Given the description of an element on the screen output the (x, y) to click on. 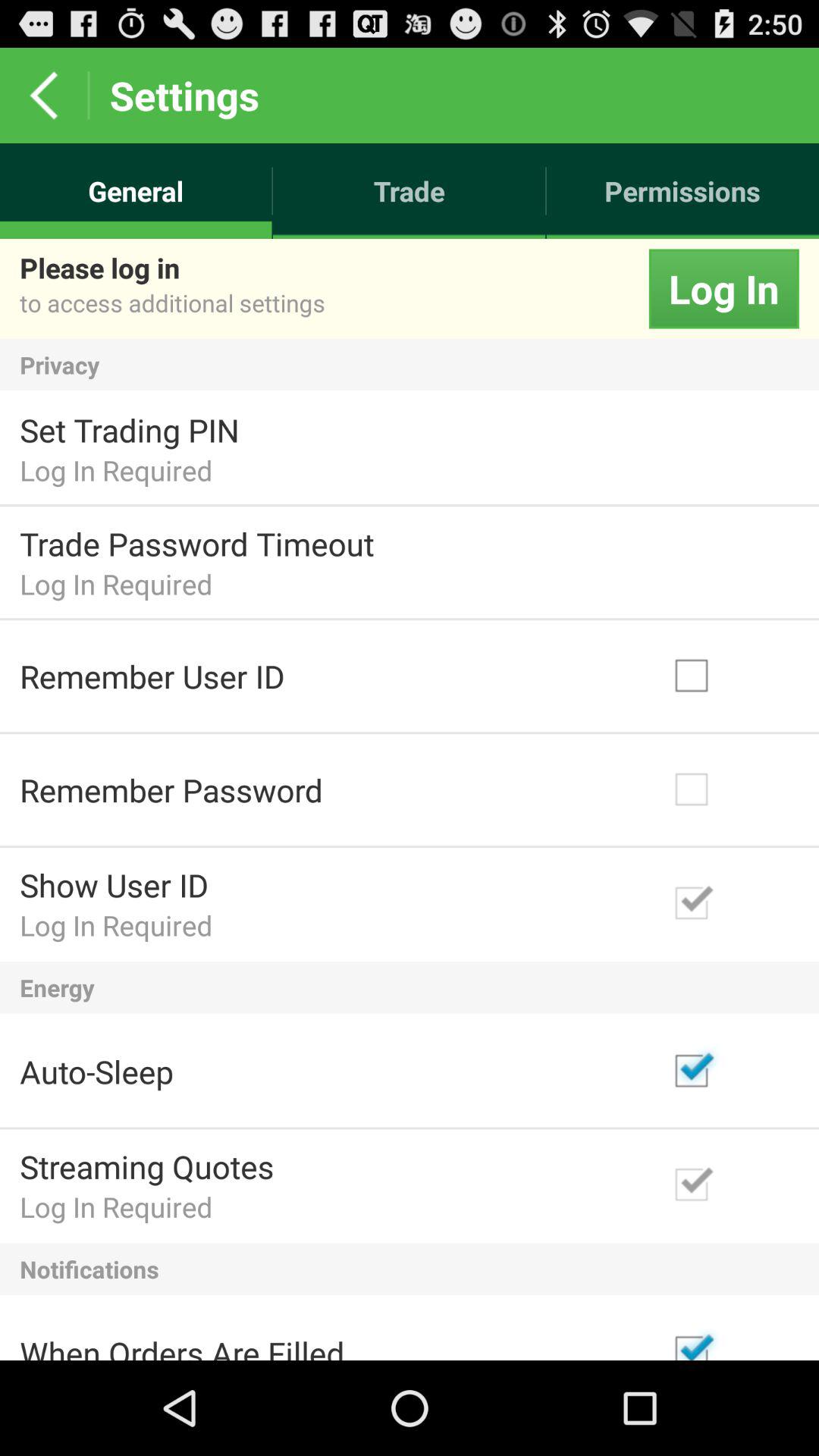
flip until the permissions icon (682, 190)
